Given the description of an element on the screen output the (x, y) to click on. 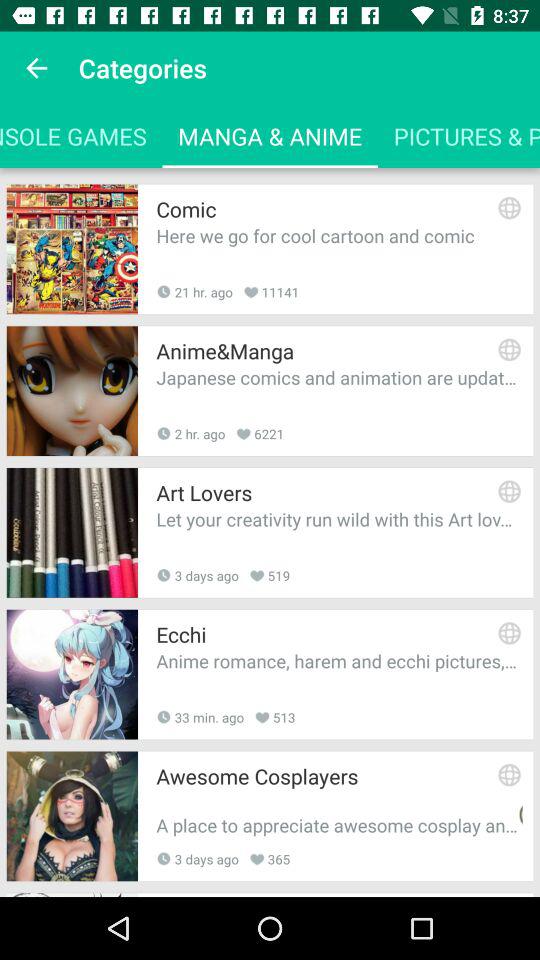
launch item above pc & console games icon (36, 68)
